Given the description of an element on the screen output the (x, y) to click on. 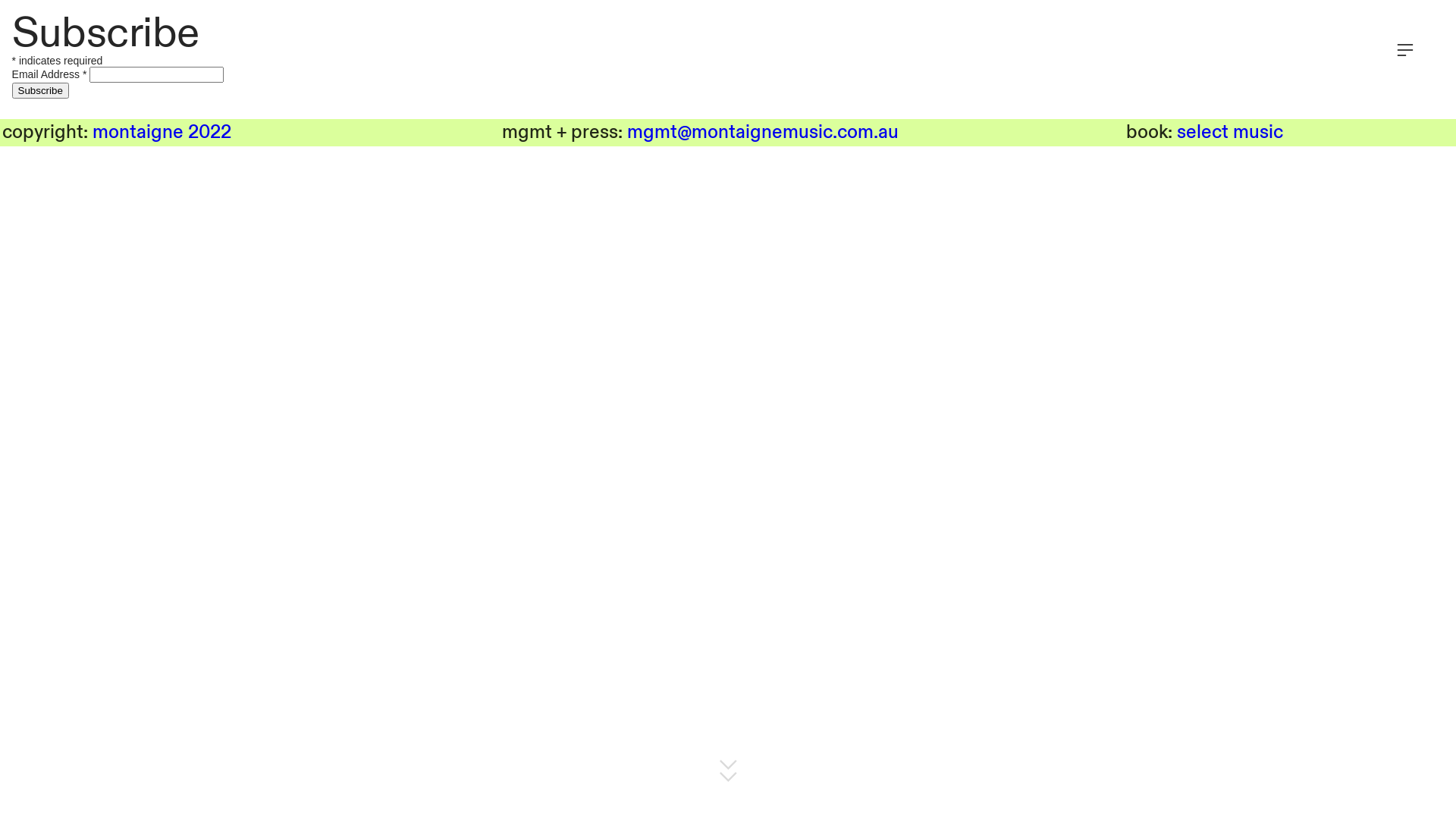
Subscribe Element type: text (40, 90)
montaigne 2022 Element type: text (161, 132)
mgmt@montaignemusic.com.au Element type: text (762, 132)
select music Element type: text (1229, 132)
